Given the description of an element on the screen output the (x, y) to click on. 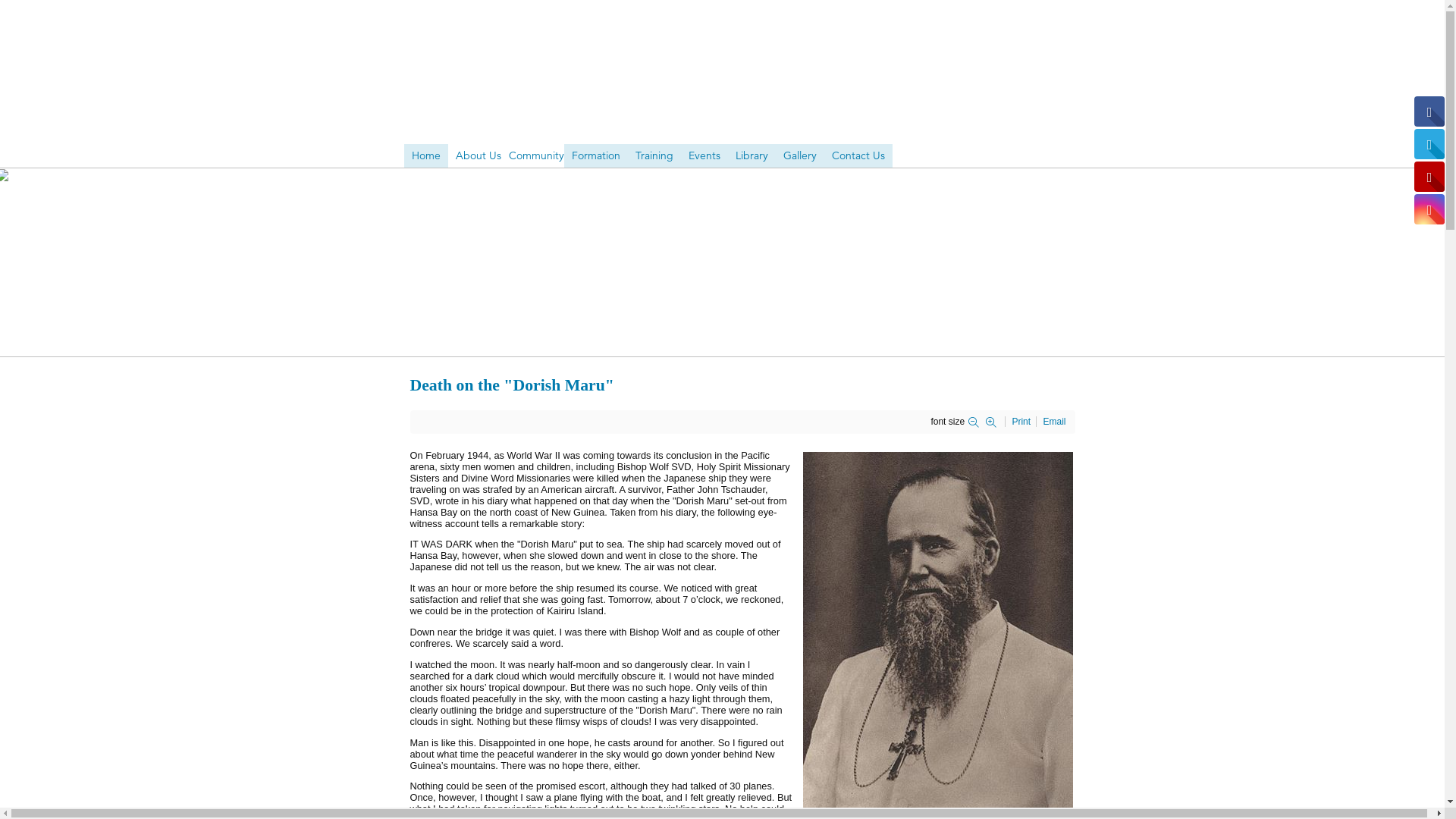
Print Element type: text (1021, 421)
Events Element type: text (704, 155)
Contact Us Element type: text (857, 155)
Formation Element type: text (595, 155)
Home Element type: text (425, 155)
Gallery Element type: text (799, 155)
Training Element type: text (653, 155)
Email Element type: text (1053, 421)
Library Element type: text (751, 155)
